Given the description of an element on the screen output the (x, y) to click on. 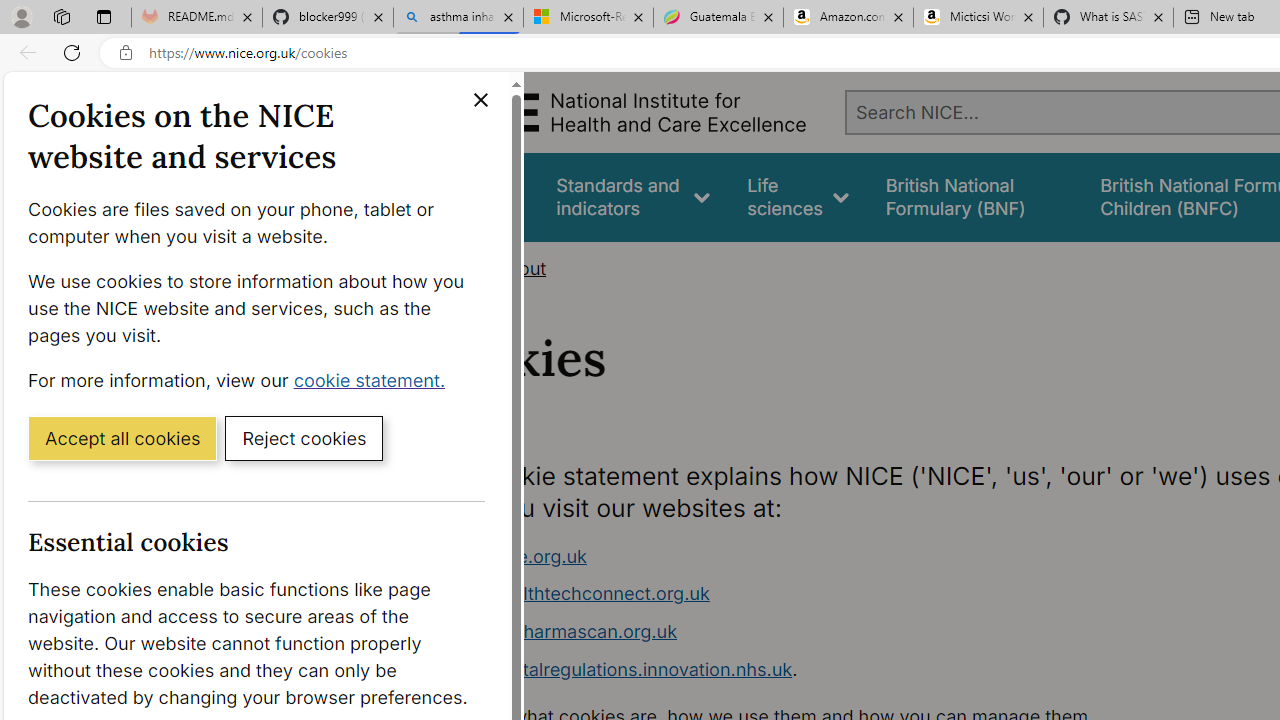
Home> (456, 268)
Close cookie banner (480, 99)
www.digitalregulations.innovation.nhs.uk (617, 668)
